Given the description of an element on the screen output the (x, y) to click on. 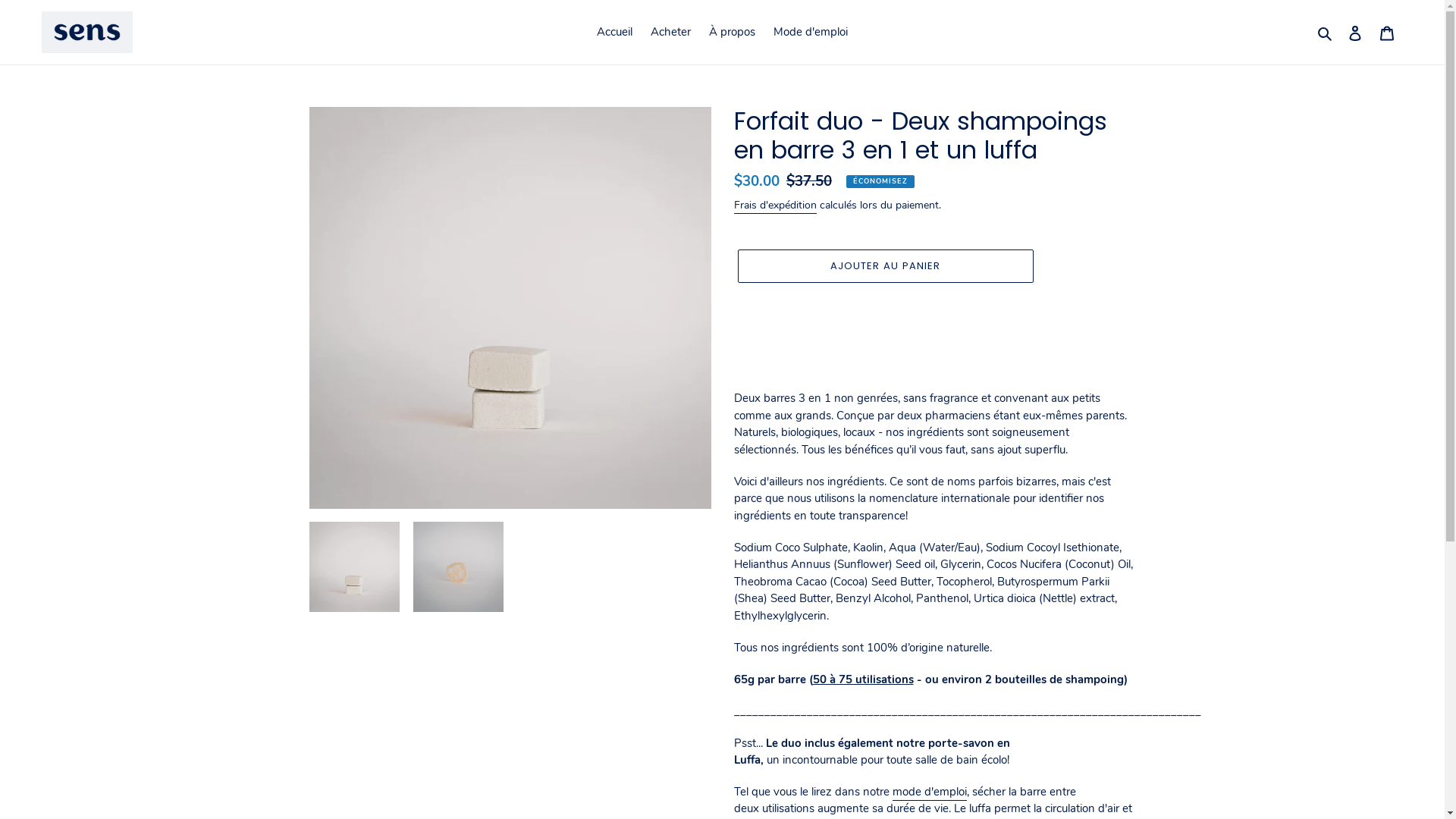
AJOUTER AU PANIER Element type: text (884, 266)
Mode d'emploi Element type: text (810, 32)
Rechercher Element type: text (1325, 31)
Accueil Element type: text (614, 32)
mode d'emploi Element type: text (928, 792)
Se connecter Element type: text (1355, 31)
Acheter Element type: text (670, 32)
Panier Element type: text (1386, 31)
